Given the description of an element on the screen output the (x, y) to click on. 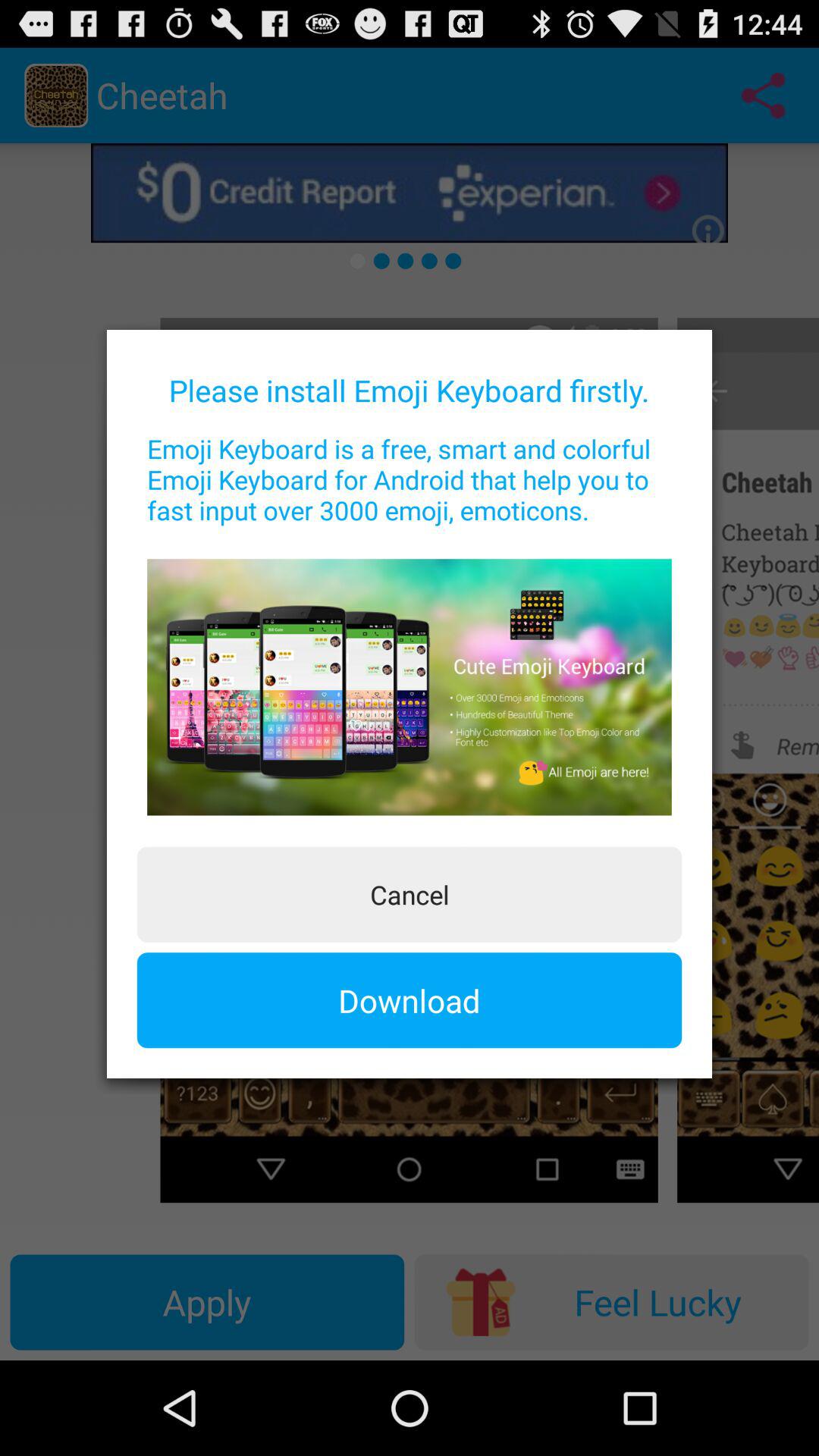
launch download (409, 1000)
